Given the description of an element on the screen output the (x, y) to click on. 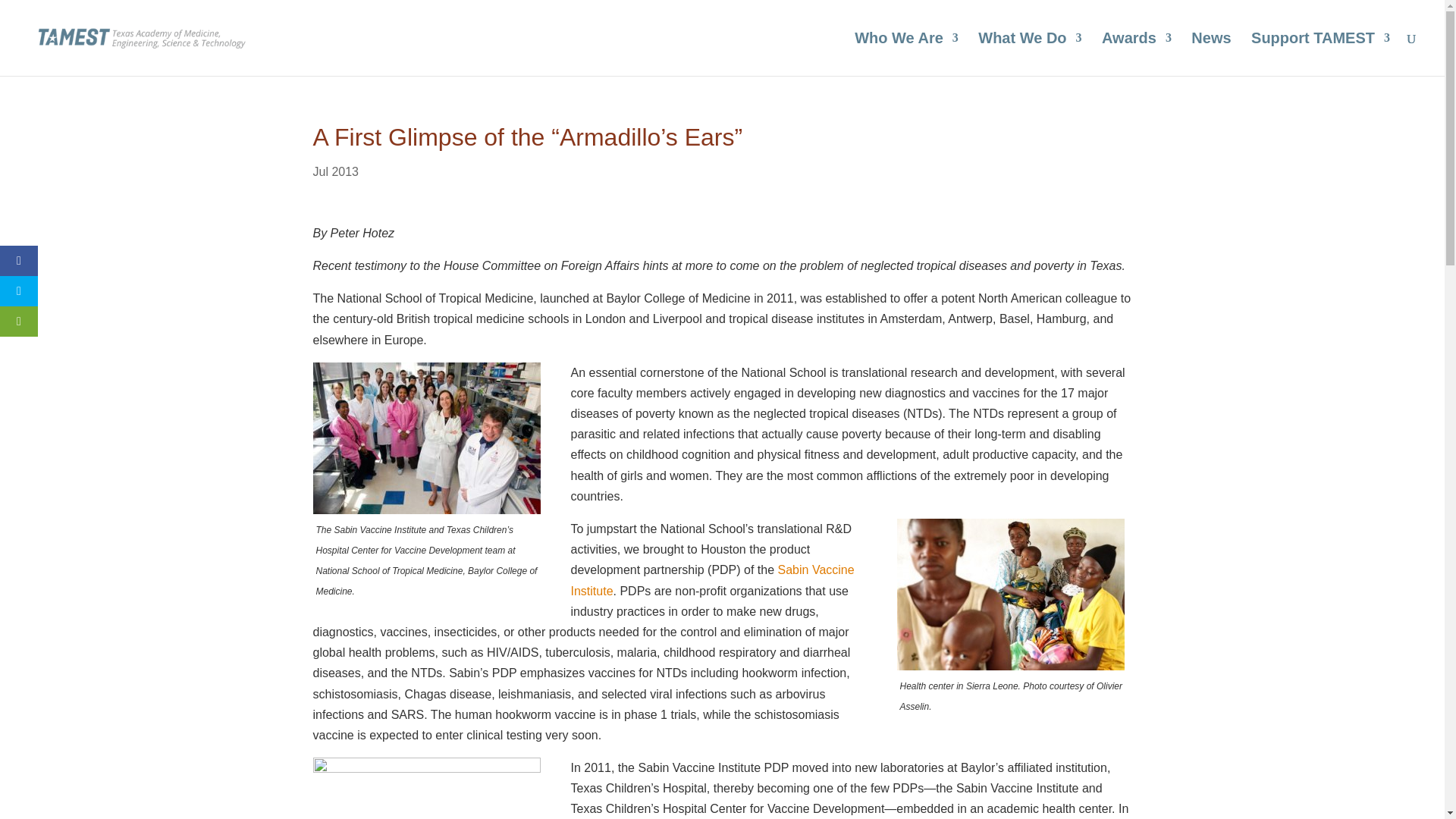
Awards (1137, 54)
Who We Are (906, 54)
News (1210, 54)
What We Do (1029, 54)
Sabin Vaccine Institute (711, 580)
Support TAMEST (1320, 54)
